Given the description of an element on the screen output the (x, y) to click on. 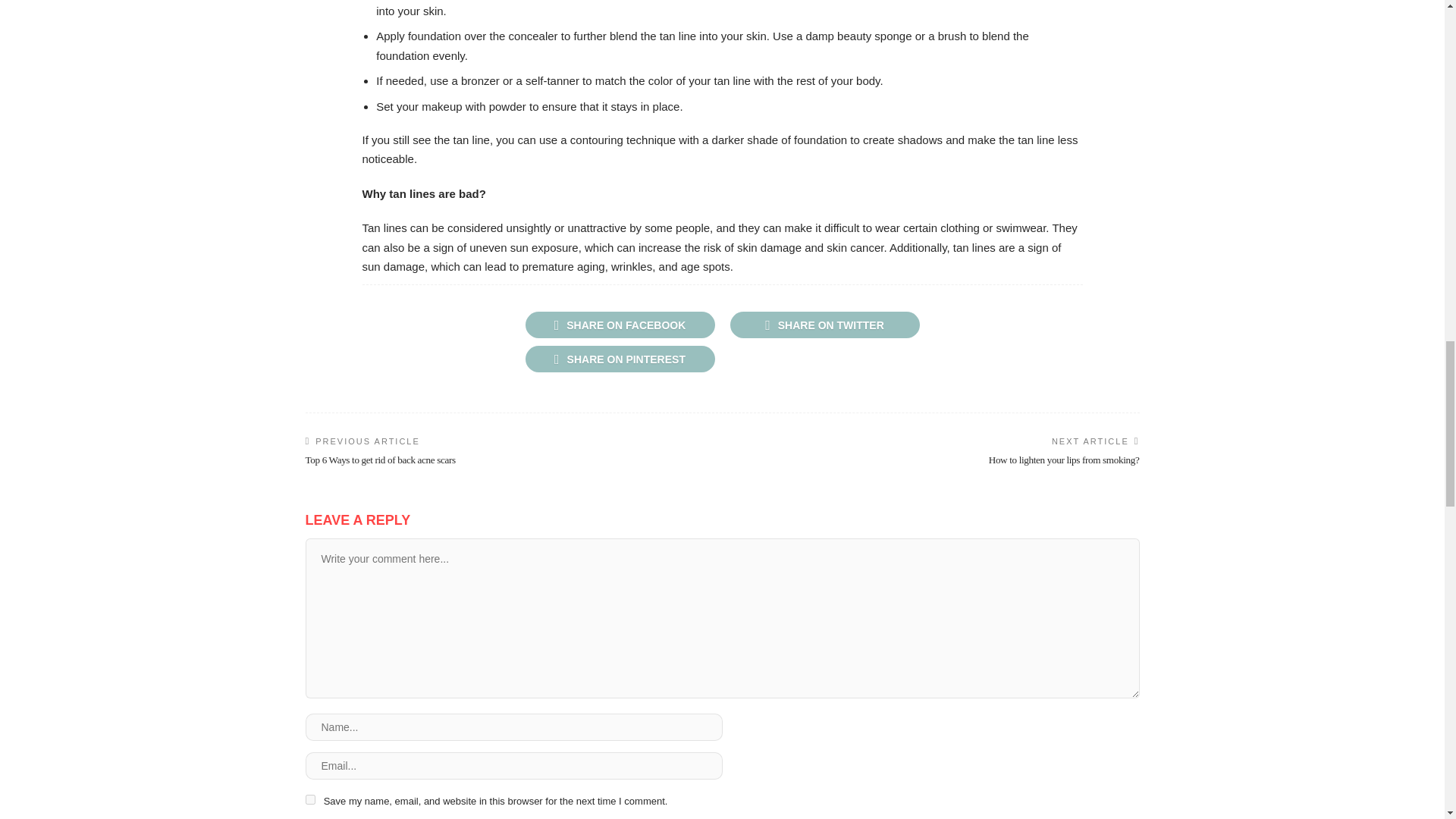
yes (309, 799)
How to lighten your lips from smoking? (1064, 460)
Top 6 Ways to get rid of back acne scars (379, 460)
SHARE ON FACEBOOK (619, 325)
SHARE ON TWITTER (823, 325)
SHARE ON PINTEREST (619, 358)
How to lighten your lips from smoking? (1064, 460)
Top 6 Ways to get rid of back acne scars (379, 460)
